Given the description of an element on the screen output the (x, y) to click on. 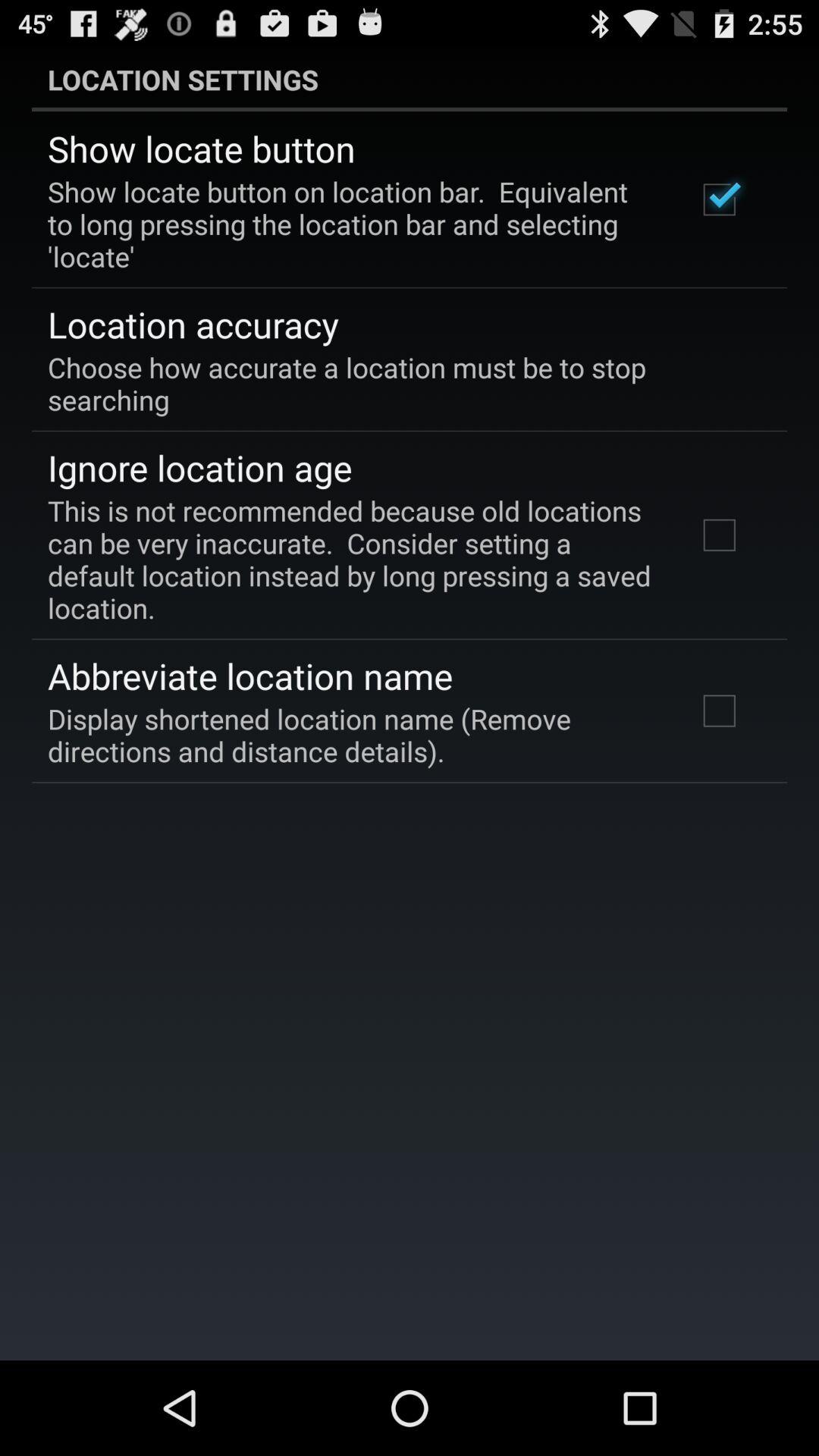
turn off the location accuracy icon (192, 324)
